Given the description of an element on the screen output the (x, y) to click on. 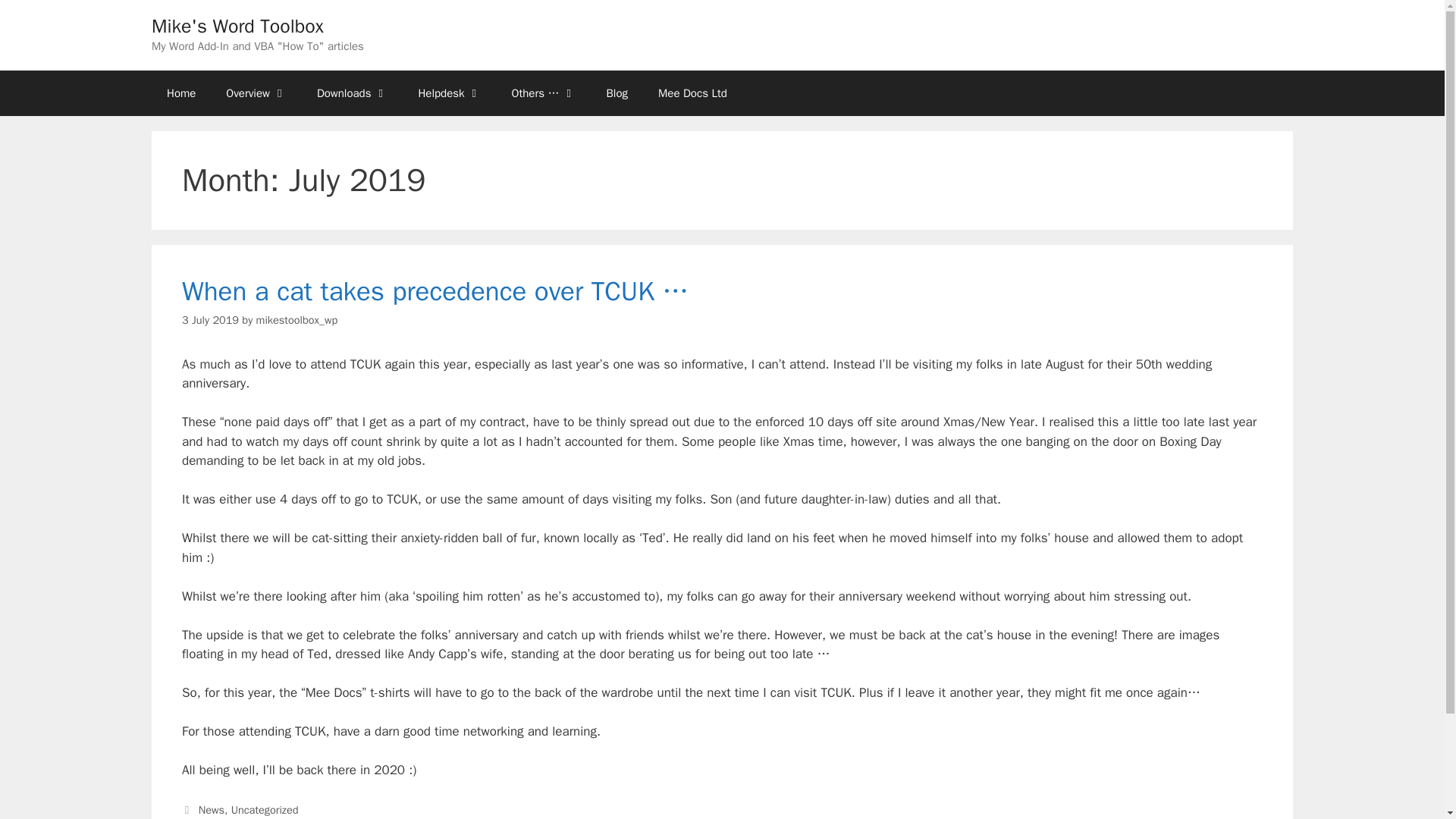
Uncategorized (264, 809)
Blog (617, 92)
Overview (256, 92)
Mee Docs Ltd (692, 92)
Mike's Word Toolbox (237, 25)
Downloads (352, 92)
Home (181, 92)
Helpdesk (449, 92)
News (211, 809)
